Given the description of an element on the screen output the (x, y) to click on. 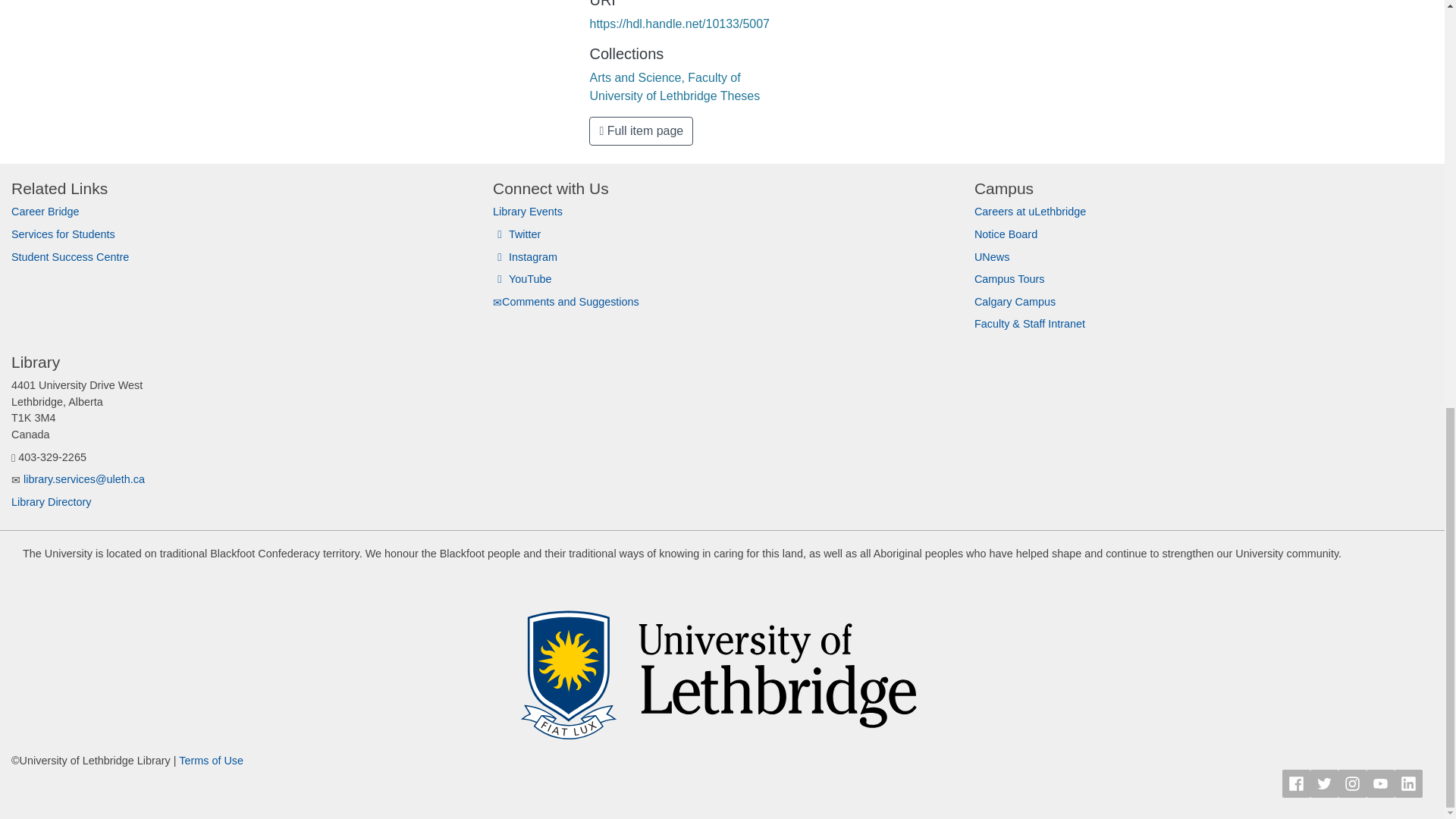
Instagram Link (1352, 783)
Library Events (527, 211)
UNews (991, 256)
Careers at uLethbridge (1030, 211)
YouTube Link (1380, 783)
YouTube (522, 278)
Services for Students (63, 234)
Career Bridge (45, 211)
Student Success Centre (70, 256)
Calgary Campus (1014, 301)
